Given the description of an element on the screen output the (x, y) to click on. 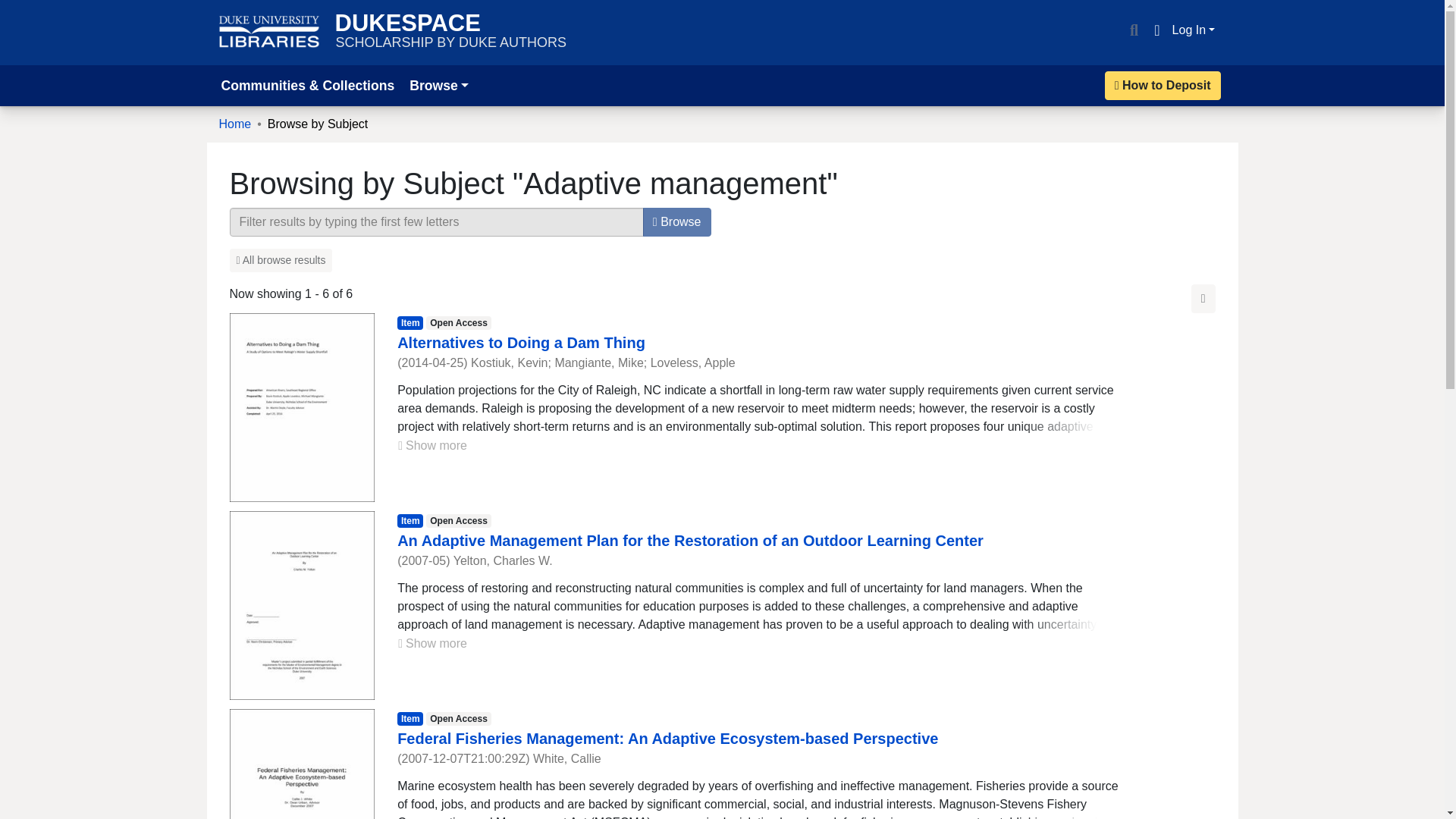
Language switch (1156, 30)
Log In (1193, 29)
Browse (677, 222)
Browse (438, 85)
Duke University Libraries (450, 32)
Skip to Main Content (269, 32)
Alternatives to Doing a Dam Thing (18, 9)
Search (521, 342)
